Given the description of an element on the screen output the (x, y) to click on. 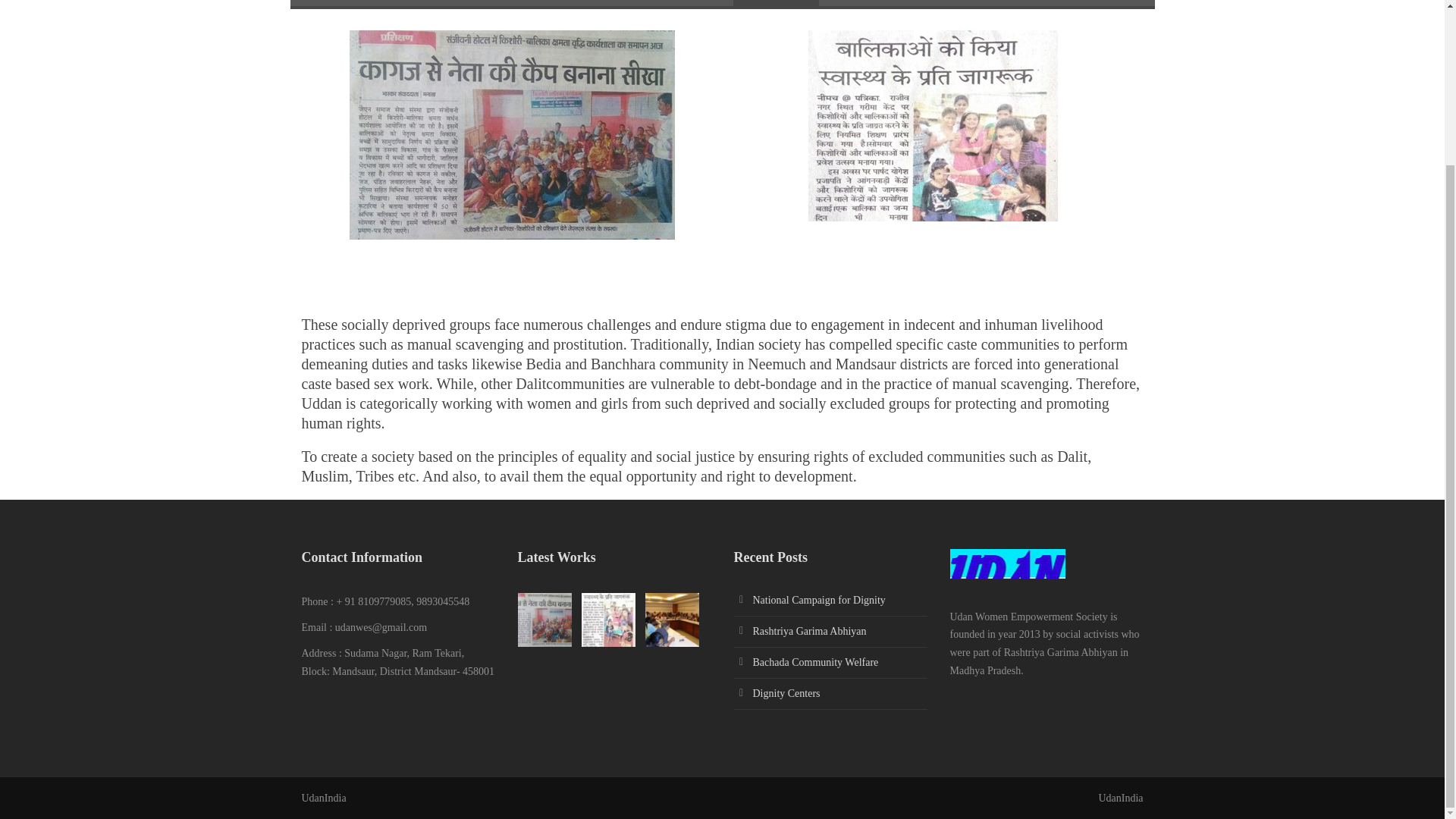
DONATE (1024, 2)
RESOURCE (775, 2)
ABOUT (700, 2)
CONTACT US (1107, 2)
HOME (637, 2)
OUR PARTNER (869, 2)
JOIN US (954, 2)
